Given the description of an element on the screen output the (x, y) to click on. 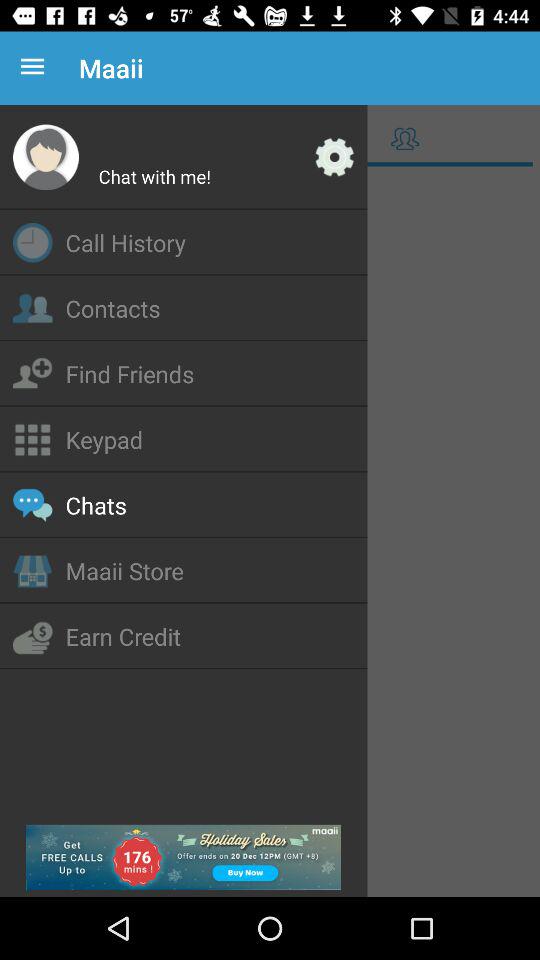
access settings options (334, 157)
